Given the description of an element on the screen output the (x, y) to click on. 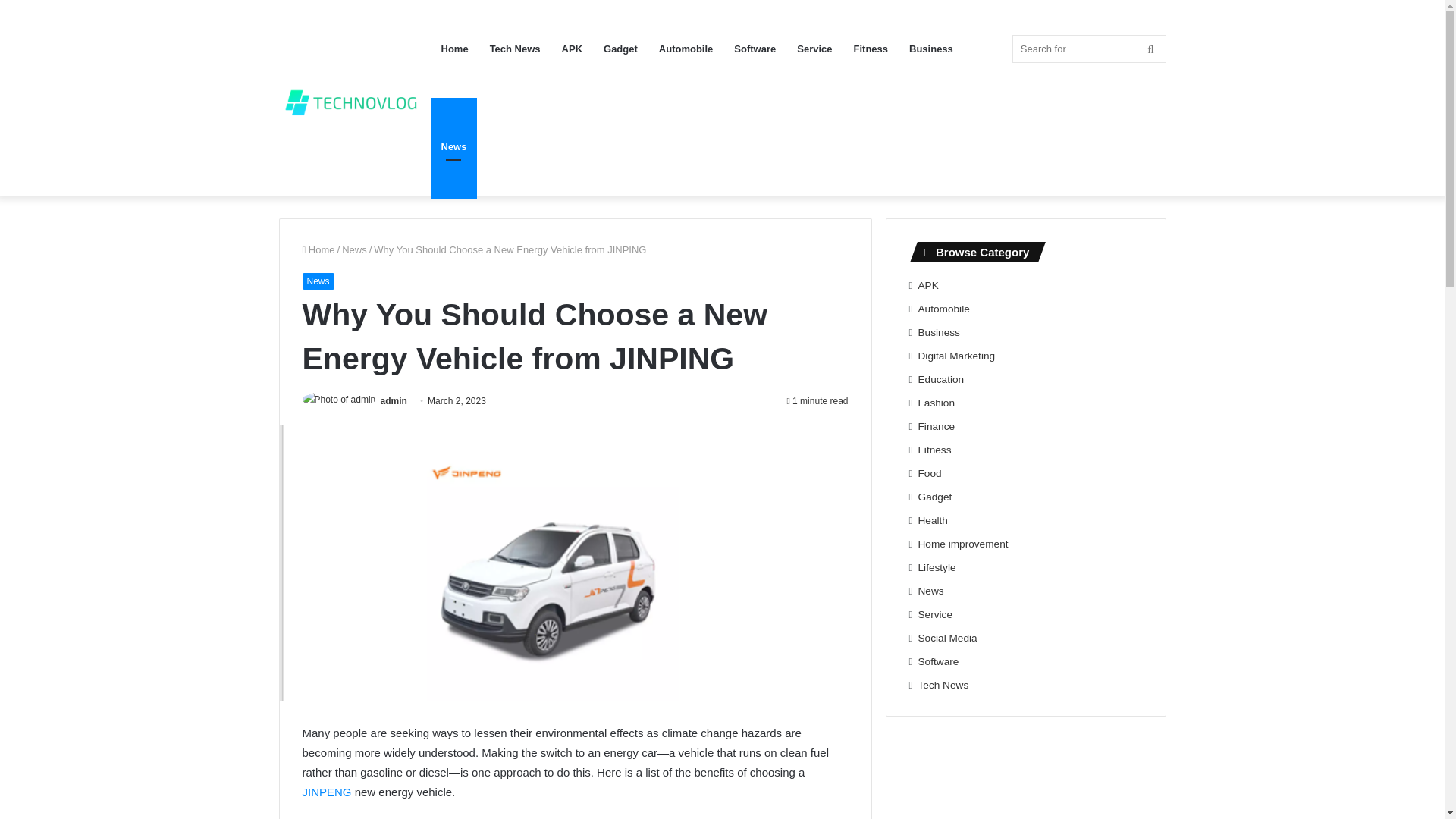
News (317, 280)
JINPENG (325, 791)
Technovlog.com (354, 96)
News (354, 249)
Home (317, 249)
admin (393, 400)
Search for (1088, 49)
admin (393, 400)
